Given the description of an element on the screen output the (x, y) to click on. 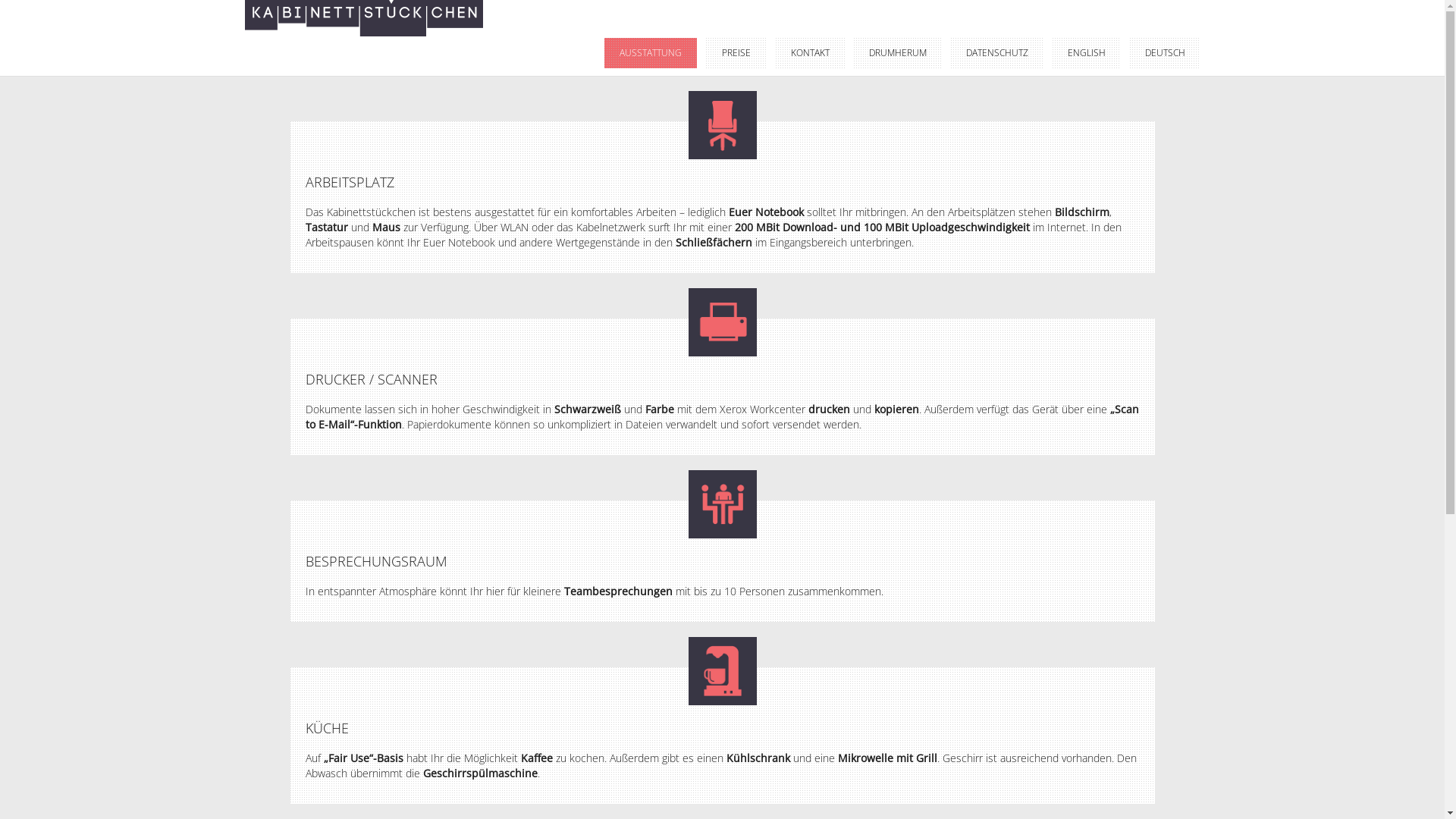
Kabinettstueckchen.cc Element type: hover (363, 16)
DATENSCHUTZ Element type: text (996, 52)
PREISE Element type: text (735, 52)
DEUTSCH Element type: text (1164, 52)
AUSSTATTUNG Element type: text (649, 52)
KONTAKT Element type: text (809, 52)
DRUMHERUM Element type: text (897, 52)
ENGLISH Element type: text (1086, 52)
